Given the description of an element on the screen output the (x, y) to click on. 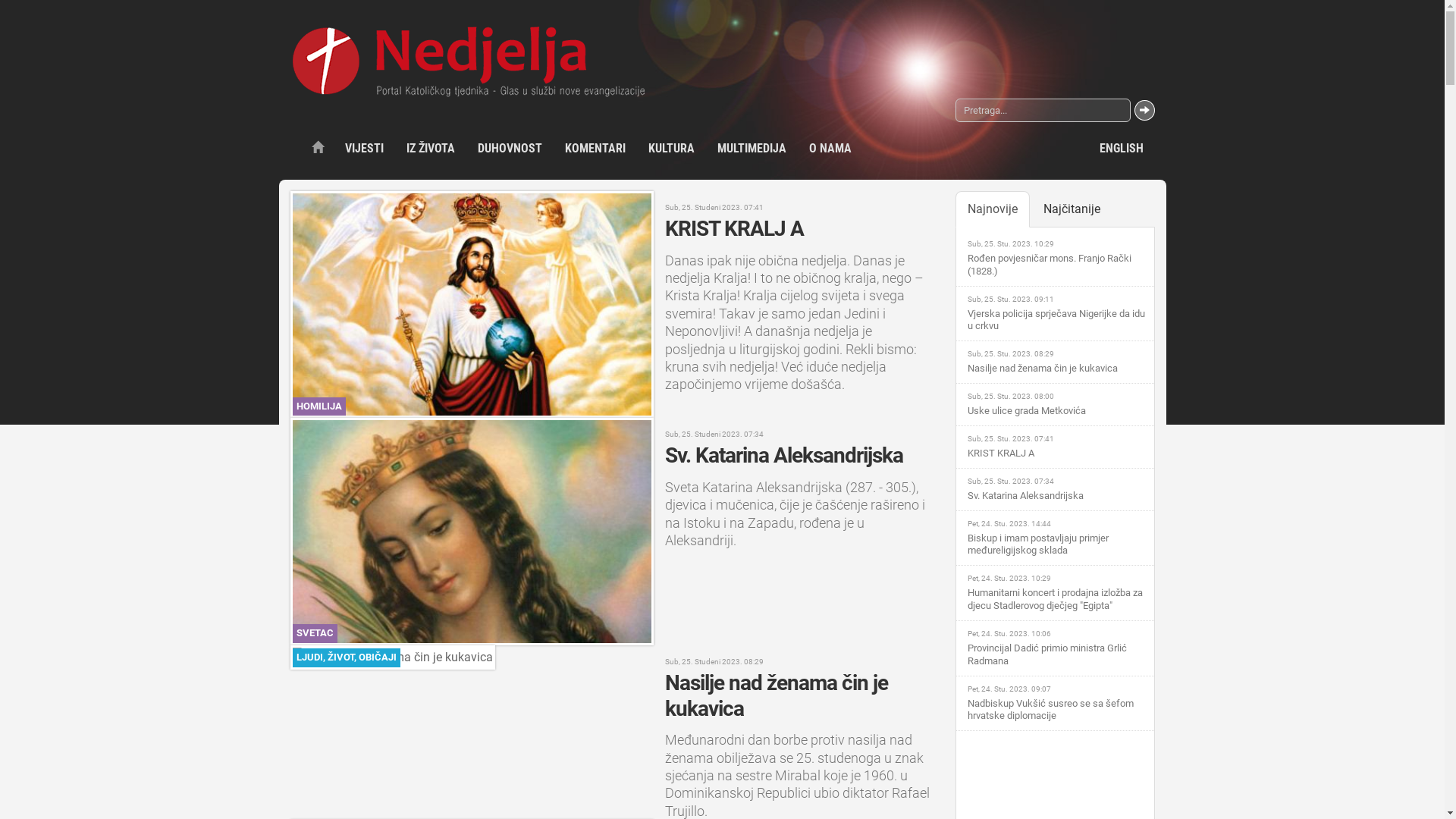
DUHOVNOST Element type: text (508, 148)
ENGLISH Element type: text (1120, 148)
KULTURA Element type: text (671, 148)
Najnovije Element type: text (992, 209)
O NAMA Element type: text (829, 148)
Sub, 25. Stu. 2023. 07:34
Sv. Katarina Aleksandrijska Element type: text (1058, 489)
KOMENTARI Element type: text (595, 148)
VIJESTI Element type: text (364, 148)
Sub, 25. Stu. 2023. 07:41
KRIST KRALJ A Element type: text (1058, 446)
MULTIMEDIJA Element type: text (751, 148)
